Given the description of an element on the screen output the (x, y) to click on. 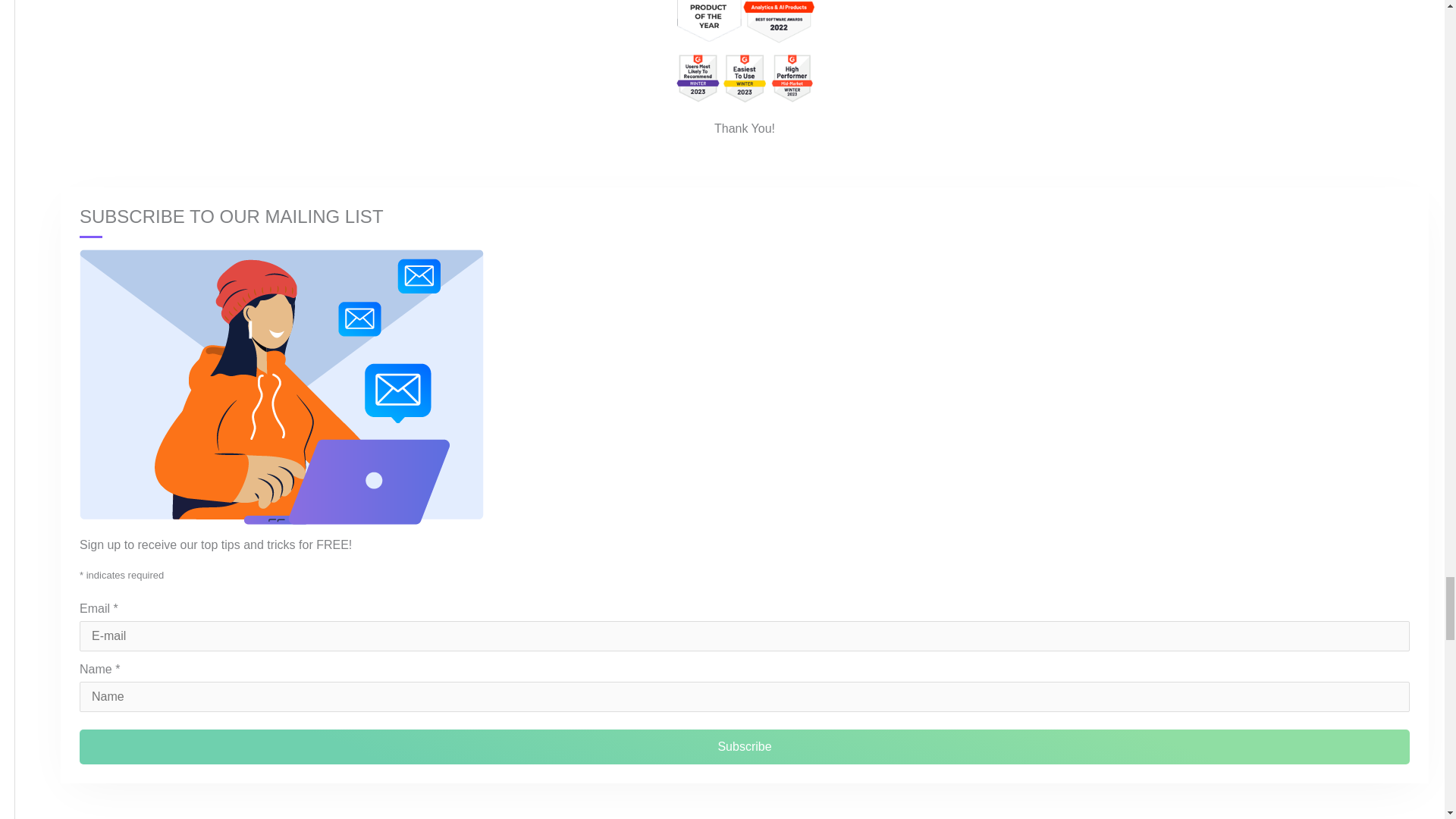
Subscribe (744, 746)
